Given the description of an element on the screen output the (x, y) to click on. 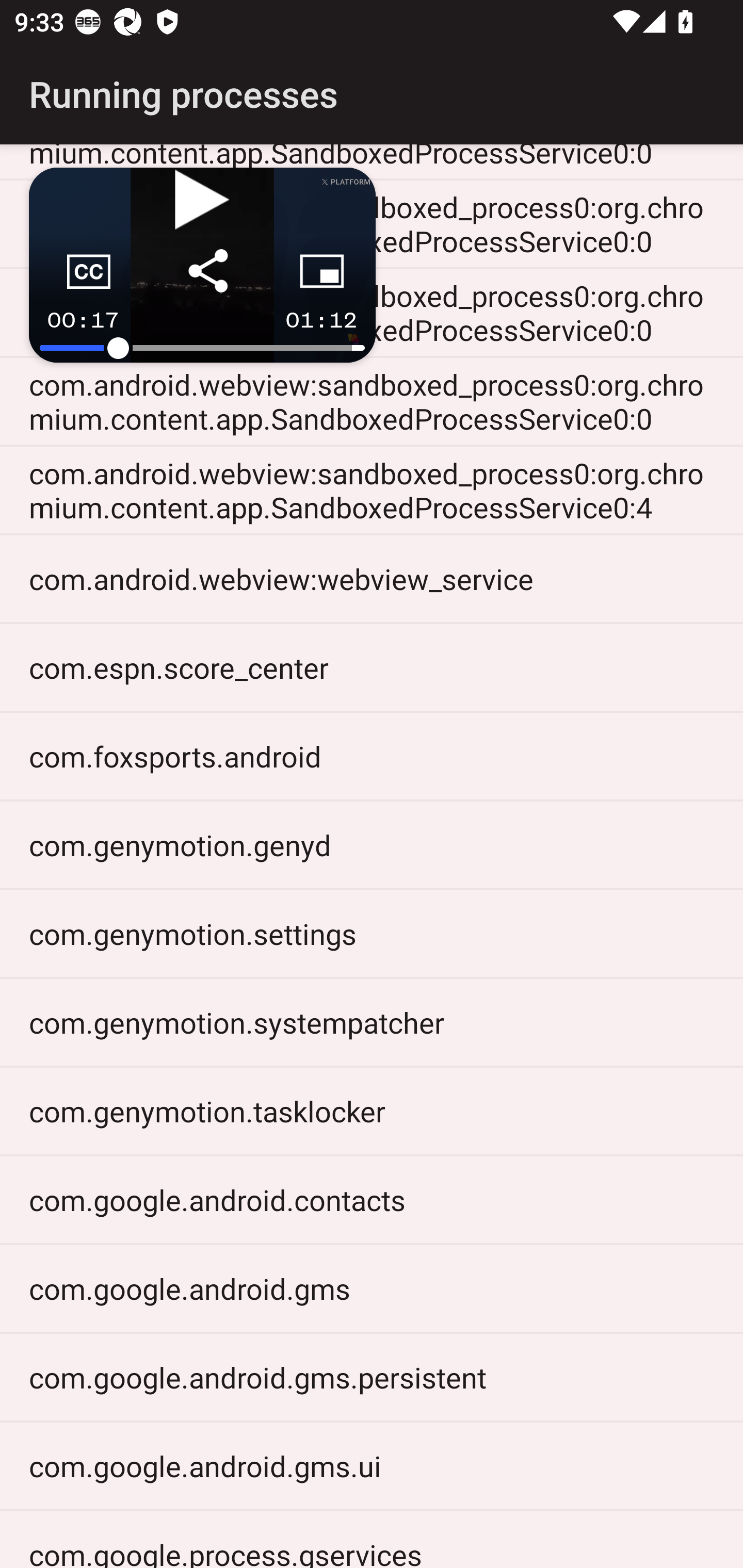
com.android.webview:webview_service (371, 578)
com.espn.score_center (371, 667)
com.foxsports.android (371, 756)
com.genymotion.genyd (371, 844)
com.genymotion.settings (371, 933)
com.genymotion.systempatcher (371, 1022)
com.genymotion.tasklocker (371, 1110)
com.google.android.contacts (371, 1200)
com.google.android.gms (371, 1287)
com.google.android.gms.persistent (371, 1377)
com.google.android.gms.ui (371, 1465)
com.google.process.gservices (371, 1539)
